Given the description of an element on the screen output the (x, y) to click on. 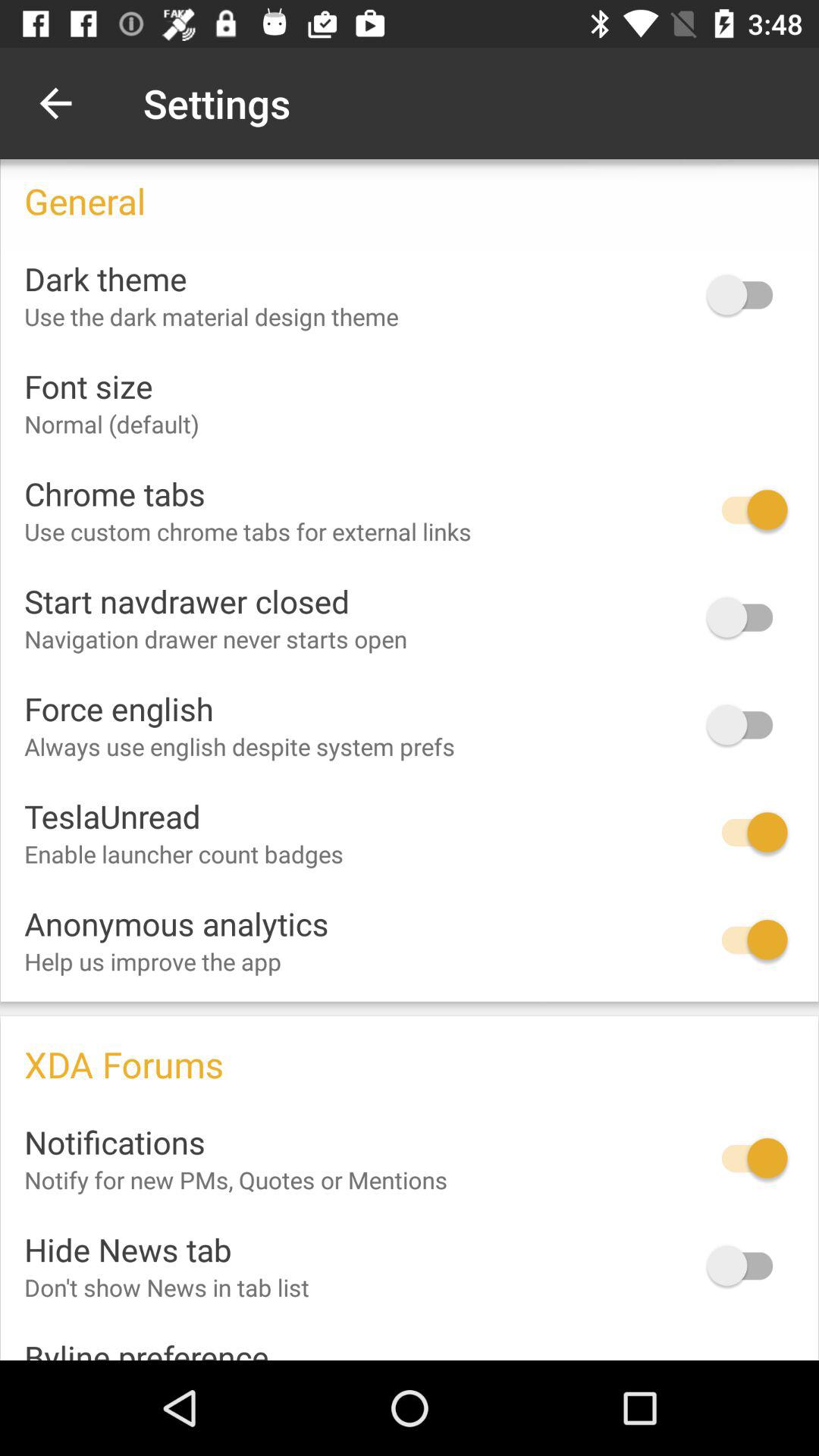
toggle force english on (747, 724)
